Given the description of an element on the screen output the (x, y) to click on. 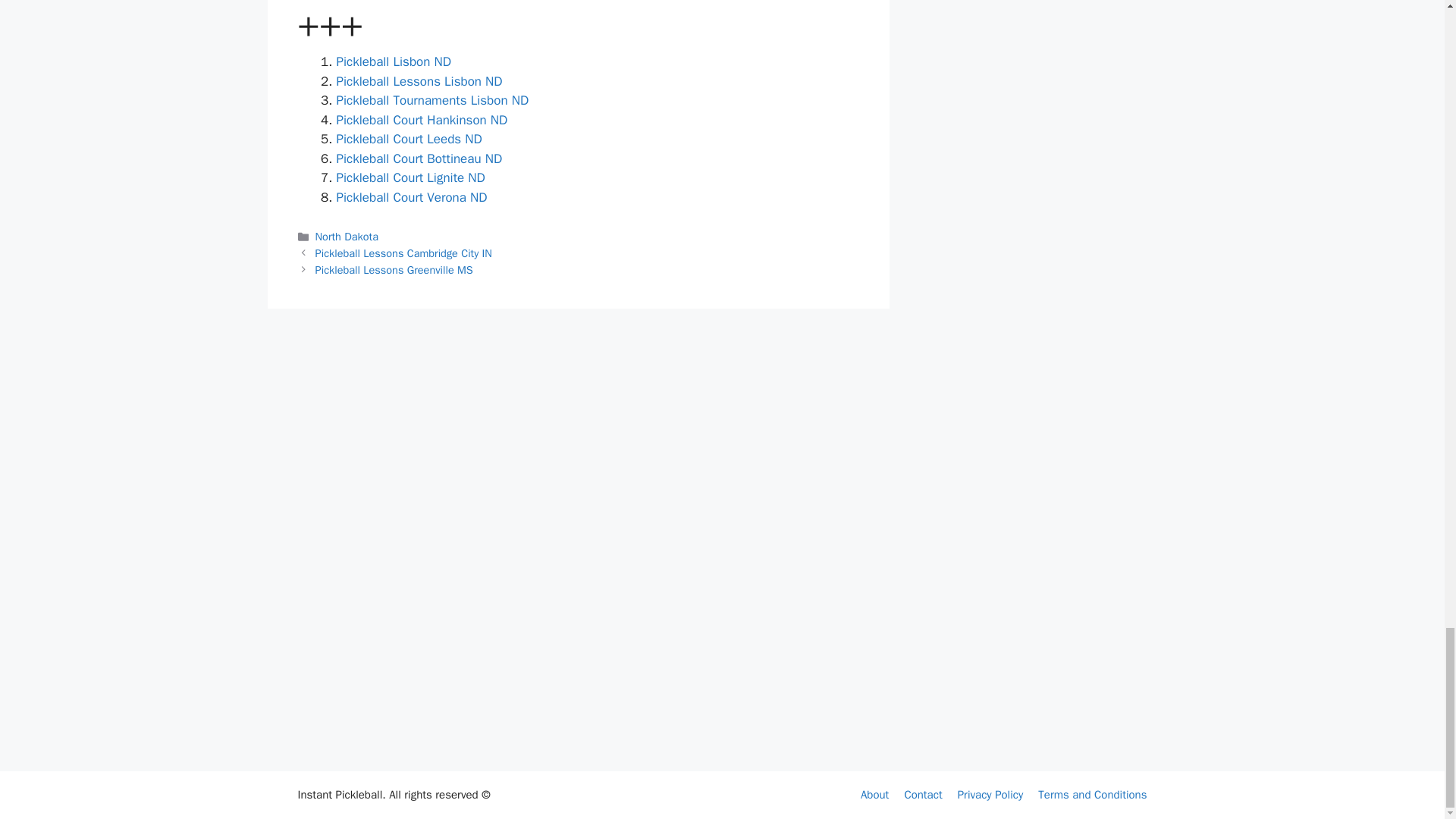
Pickleball Tournaments Lisbon ND (432, 100)
Pickleball Court Hankinson ND (422, 119)
Pickleball Lessons Greenville MS (394, 269)
Pickleball Lisbon ND (393, 61)
North Dakota (346, 236)
Pickleball Lessons Lisbon ND (419, 81)
Pickleball Court Lignite ND (410, 177)
Pickleball Court Hankinson ND (422, 119)
Pickleball Tournaments Lisbon ND (432, 100)
Pickleball Court Bottineau ND (419, 158)
Pickleball Court Bottineau ND (419, 158)
Pickleball Court Leeds ND (408, 139)
Pickleball Lisbon ND (393, 61)
Pickleball Court Leeds ND (408, 139)
Pickleball Court Verona ND (411, 197)
